Given the description of an element on the screen output the (x, y) to click on. 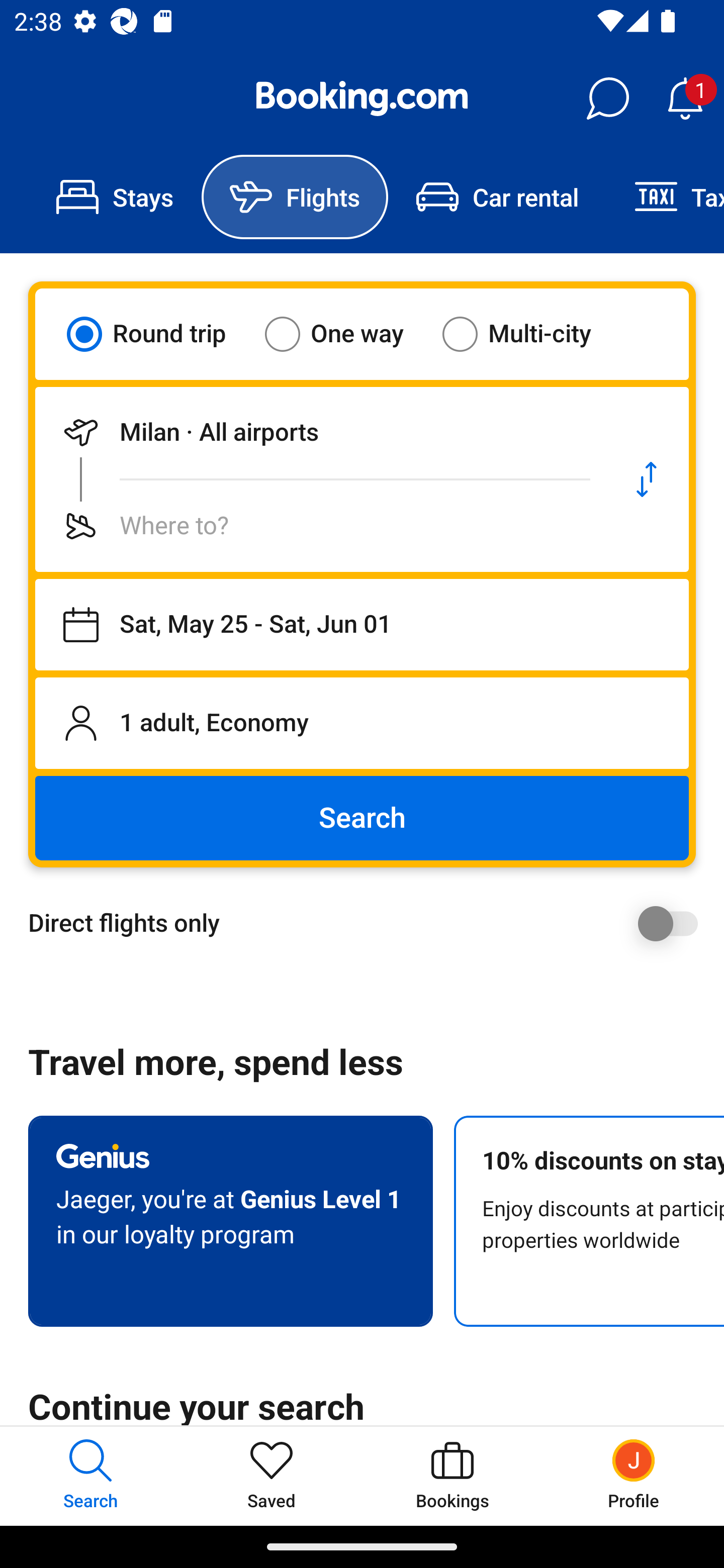
Messages (607, 98)
Notifications (685, 98)
Stays (114, 197)
Flights (294, 197)
Car rental (497, 197)
Taxi (665, 197)
One way (346, 333)
Multi-city (528, 333)
Departing from Milan · All airports (319, 432)
Swap departure location and destination (646, 479)
Flying to  (319, 525)
Departing on Sat, May 25, returning on Sat, Jun 01 (361, 624)
1 adult, Economy (361, 722)
Search (361, 818)
Direct flights only (369, 923)
Saved (271, 1475)
Bookings (452, 1475)
Profile (633, 1475)
